Given the description of an element on the screen output the (x, y) to click on. 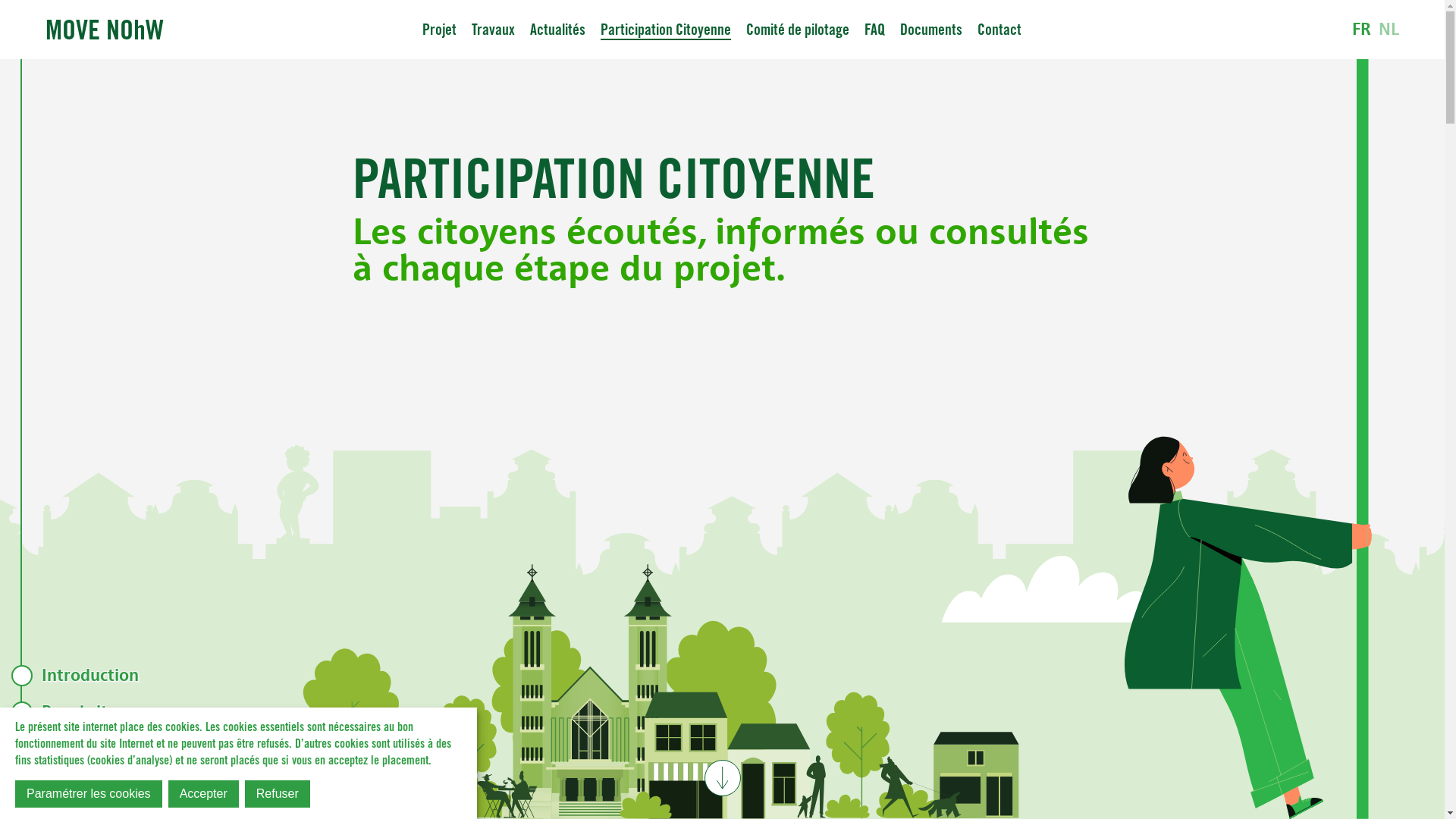
FR Element type: text (1361, 29)
Contact Element type: text (999, 29)
Accepter Element type: text (203, 793)
Refuser Element type: text (277, 793)
NL Element type: text (1388, 29)
Panel citoyen Element type: text (170, 711)
MOVE NOhW Element type: text (104, 28)
Participation Citoyenne Element type: text (665, 29)
FAQ Element type: text (874, 29)
Travaux Element type: text (492, 29)
Documents Element type: text (931, 29)
Projet Element type: text (439, 29)
Introduction Element type: text (170, 675)
